Given the description of an element on the screen output the (x, y) to click on. 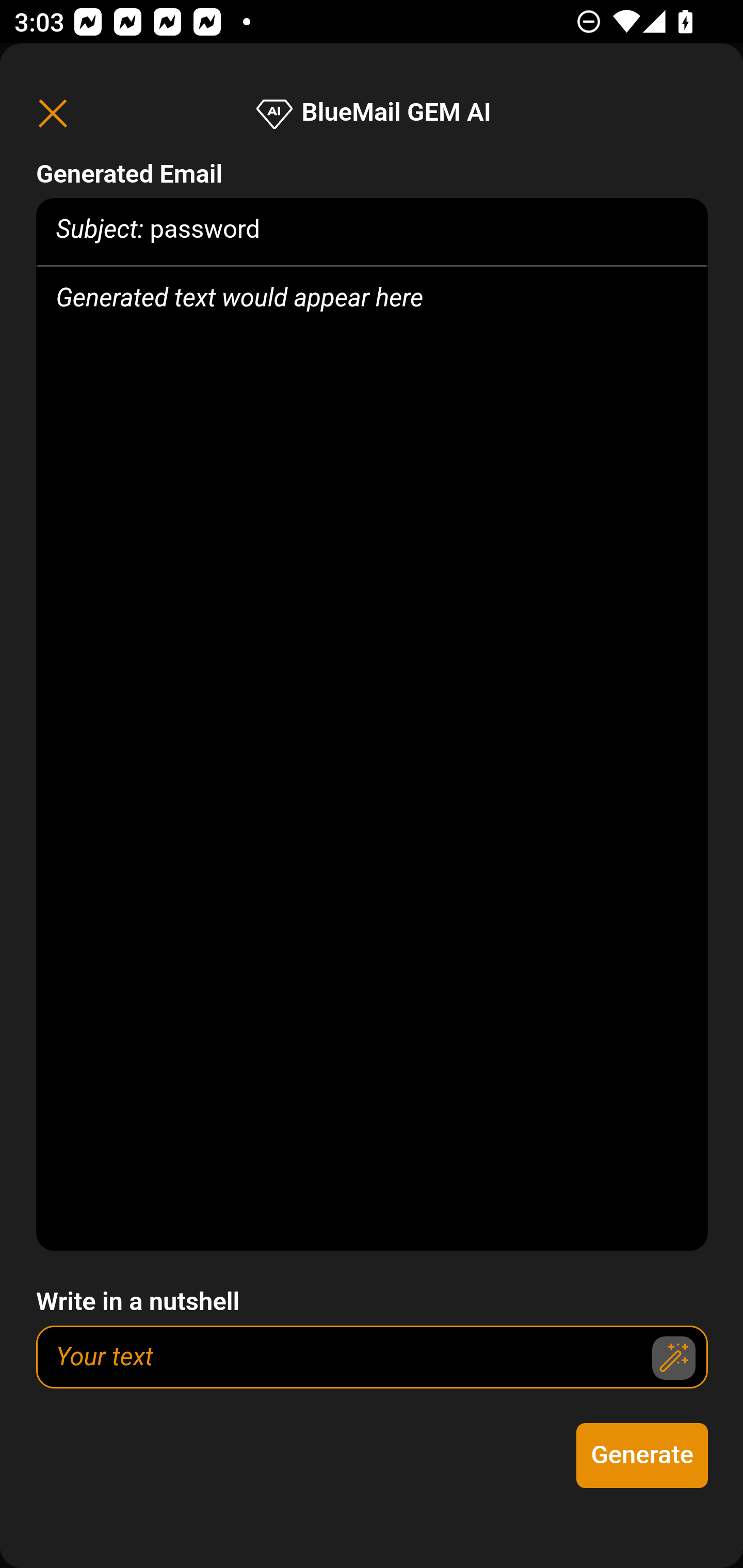
Generate (642, 1455)
